Given the description of an element on the screen output the (x, y) to click on. 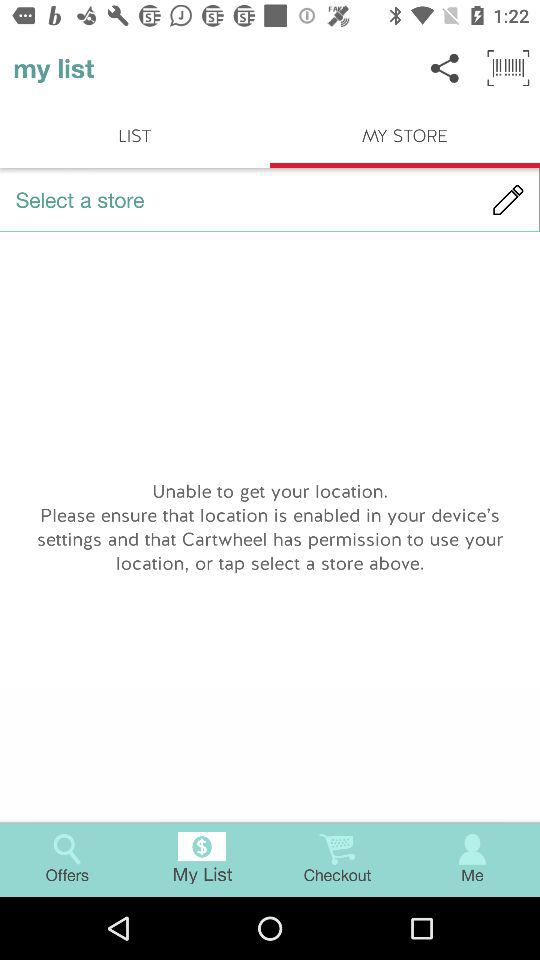
launch item above select a store icon (508, 67)
